Given the description of an element on the screen output the (x, y) to click on. 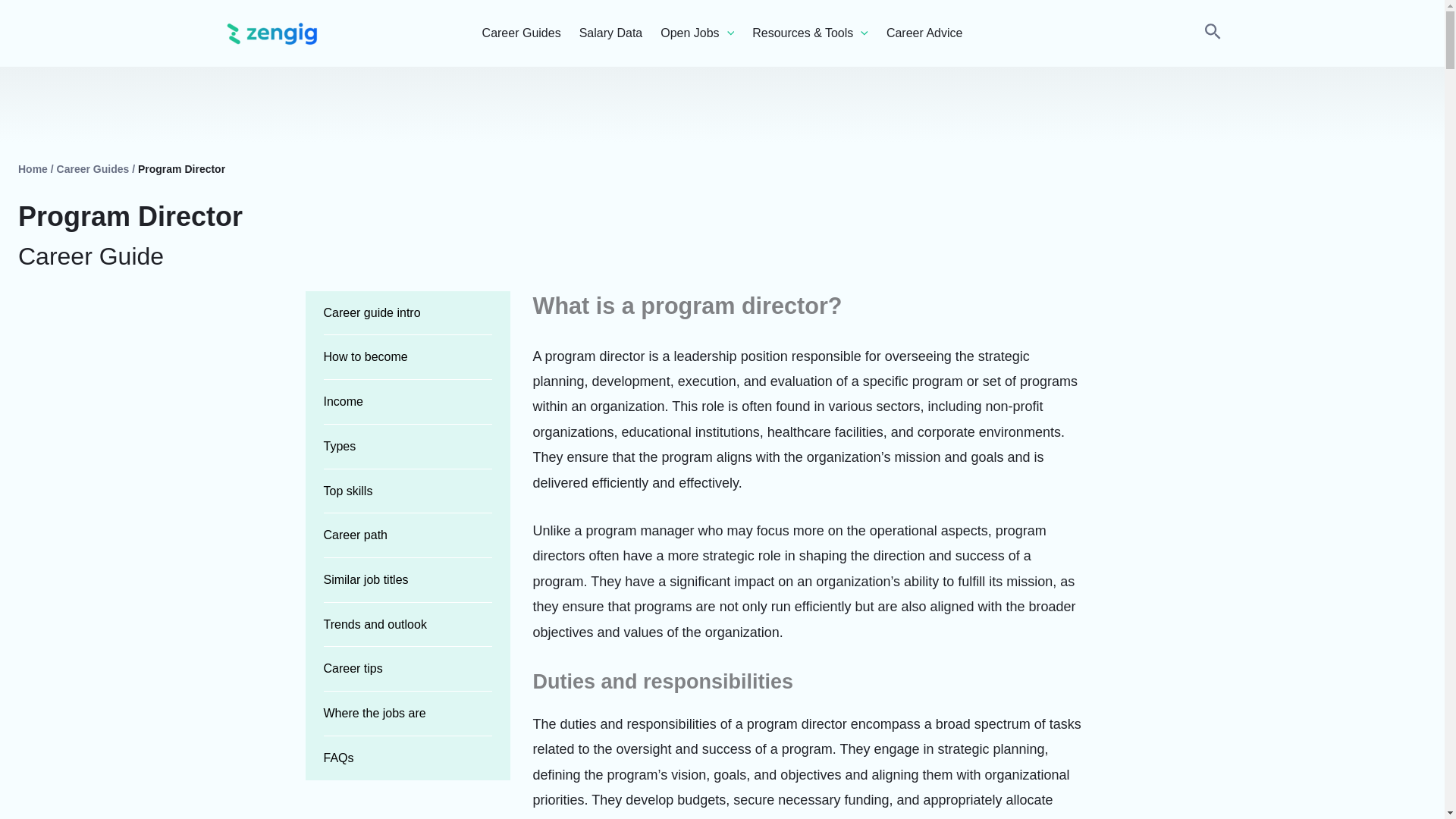
Open Jobs (697, 33)
Career Guides (520, 33)
Career Advice (924, 33)
Salary Data (611, 33)
